Given the description of an element on the screen output the (x, y) to click on. 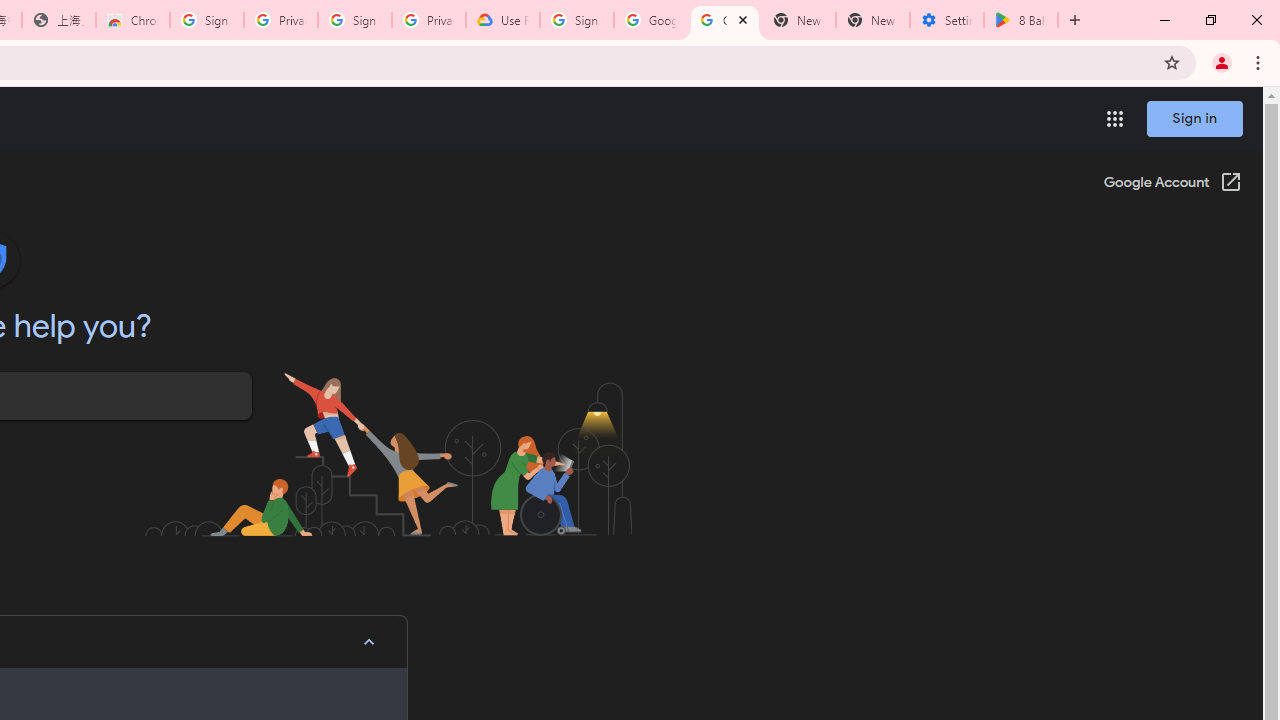
Sign in - Google Accounts (207, 20)
New Tab (872, 20)
Google Account Help (724, 20)
